Given the description of an element on the screen output the (x, y) to click on. 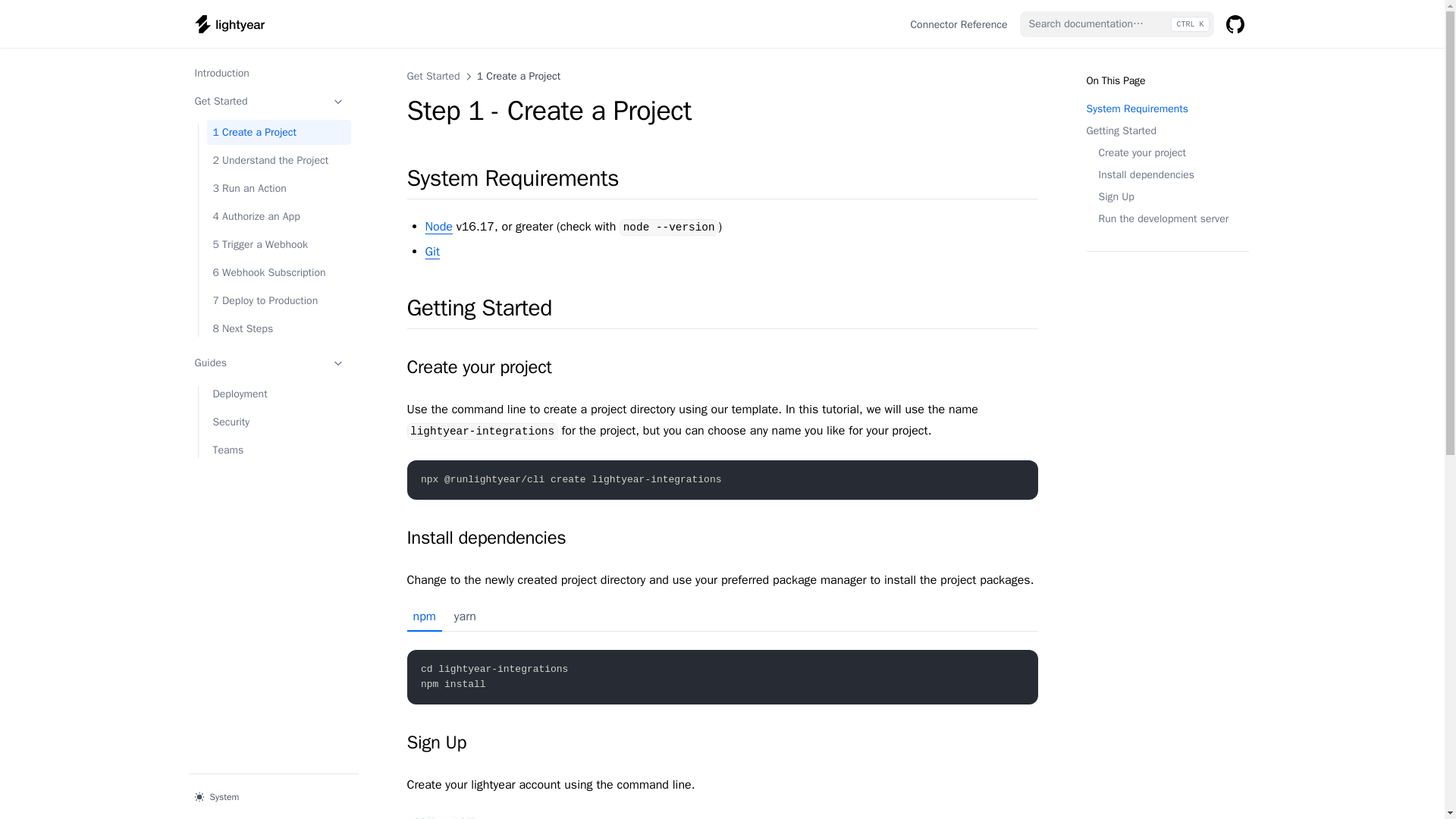
Run the development server (1166, 218)
Security (278, 421)
2 Understand the Project (278, 160)
Create your project (1141, 152)
Teams (278, 449)
Introduction (268, 72)
4 Authorize an App (278, 216)
Sign Up (1166, 196)
3 Run an Action (278, 188)
Install dependencies (1145, 174)
